Given the description of an element on the screen output the (x, y) to click on. 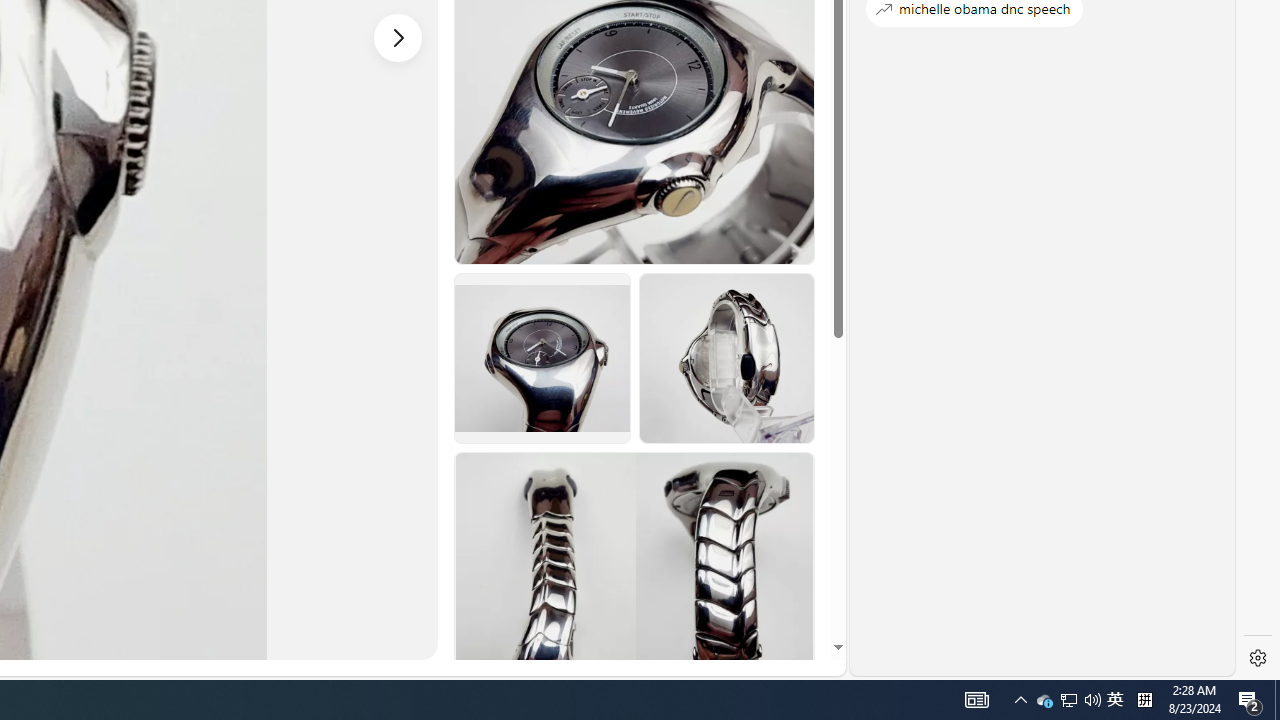
Next image - Item images thumbnails (397, 37)
